Given the description of an element on the screen output the (x, y) to click on. 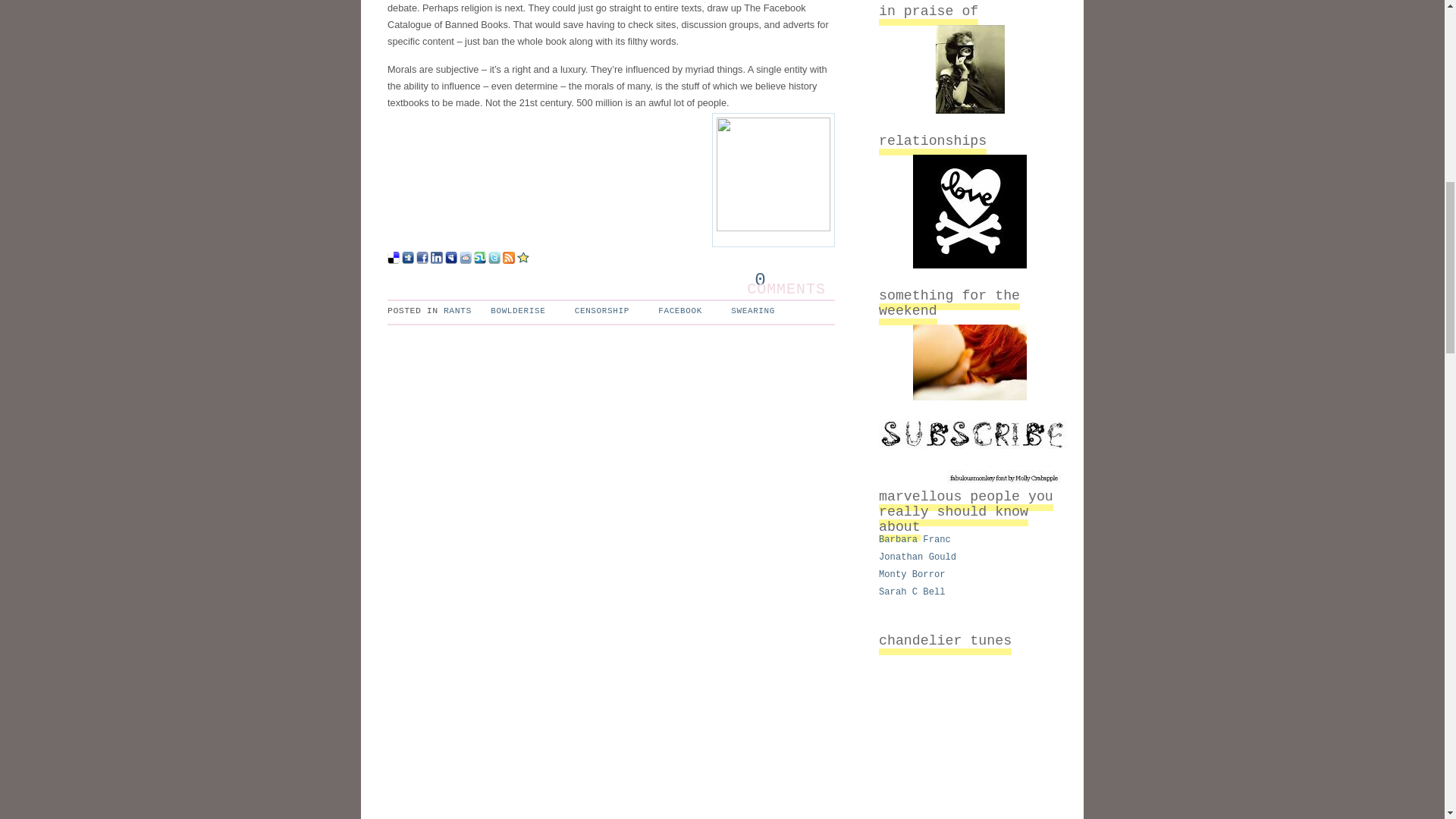
Share this post : Woe Betide Ye Facebook Users on Linkedin (436, 260)
Digg this post : Woe Betide Ye Facebook Users (407, 260)
View all posts in rants (457, 310)
RANTS (457, 310)
swear-box (772, 180)
FACEBOOK (676, 309)
Share this post : Woe Betide Ye Facebook Users on Reddit (465, 260)
Share this post : Woe Betide Ye Facebook Users via MySpace (451, 260)
Bookmark this post : Woe Betide Ye Facebook Users (522, 260)
Tweet this post : Woe Betide Ye Facebook Users on Twitter (493, 260)
BOWLDERISE (514, 309)
CENSORSHIP (597, 309)
